Given the description of an element on the screen output the (x, y) to click on. 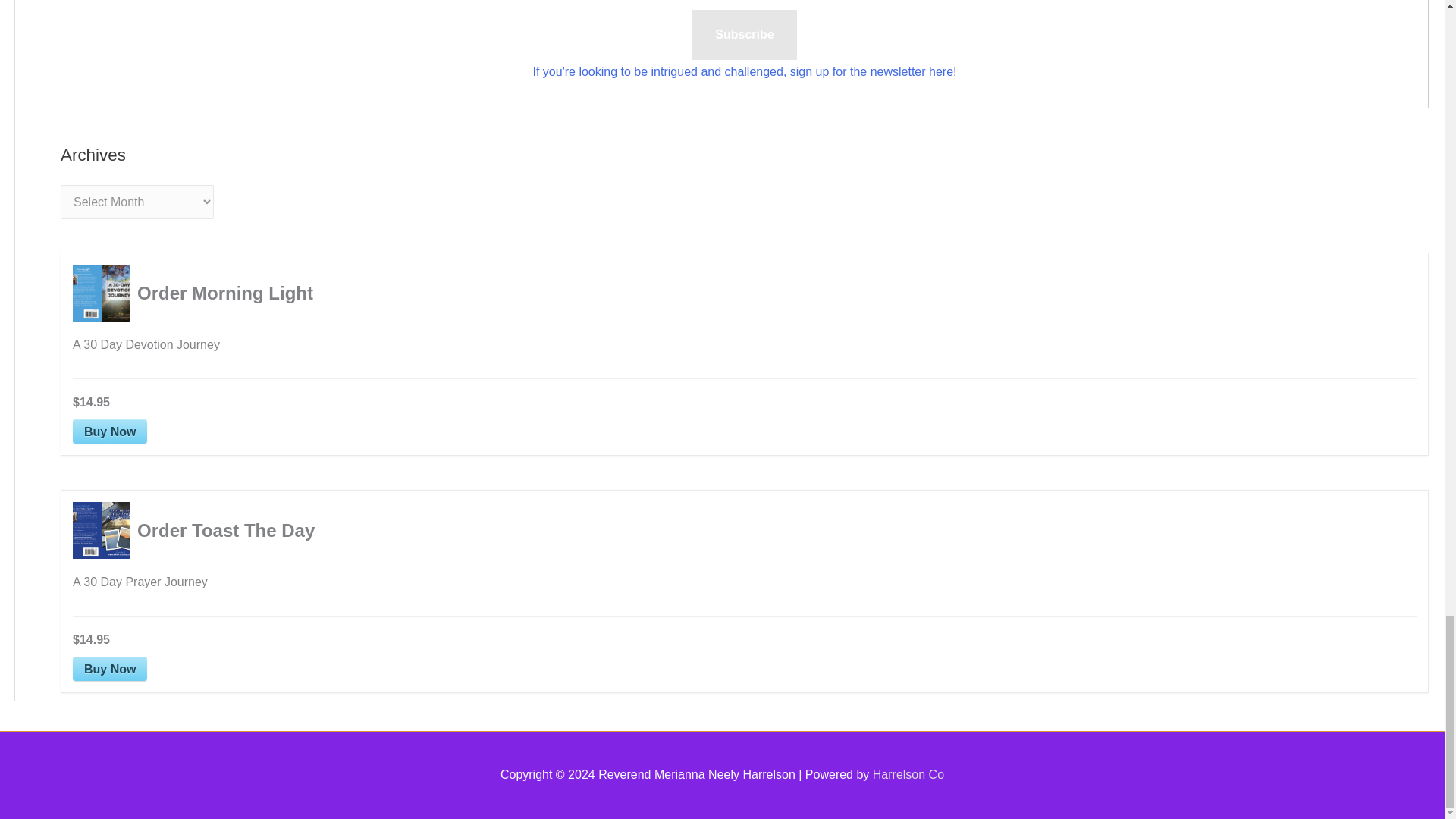
Subscribe (744, 34)
Harrelson Co (907, 774)
Buy Now (109, 431)
Buy Now (109, 668)
Subscribe (744, 34)
